Given the description of an element on the screen output the (x, y) to click on. 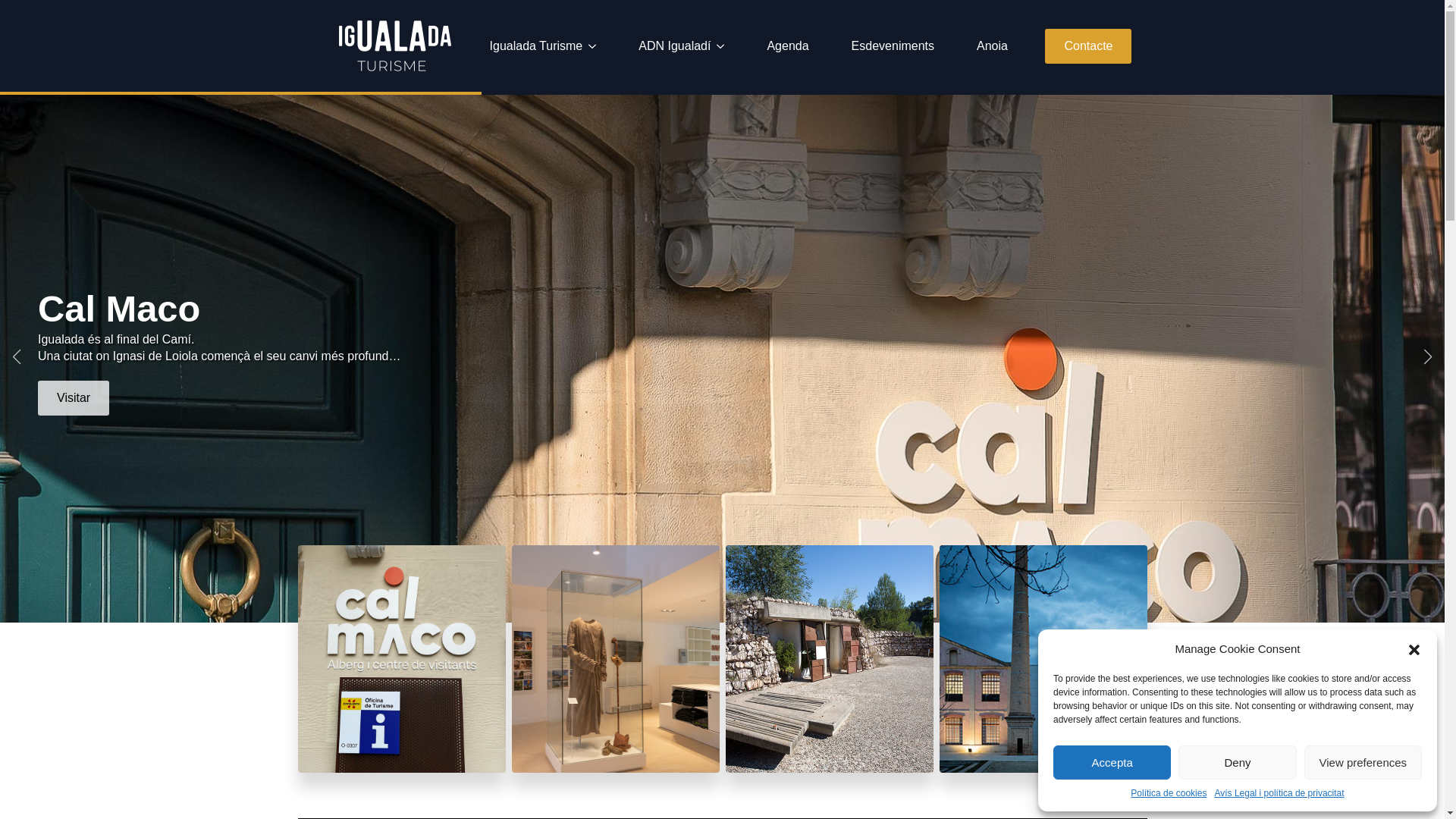
Deny Element type: text (1236, 762)
Visitar Element type: text (73, 397)
Agenda Element type: text (787, 45)
Accepta Element type: text (1111, 762)
Esdeveniments Element type: text (892, 45)
Contacte Element type: text (1087, 45)
Igualada Turisme Element type: text (530, 45)
Anoia Element type: text (991, 45)
View preferences Element type: text (1362, 762)
